Given the description of an element on the screen output the (x, y) to click on. 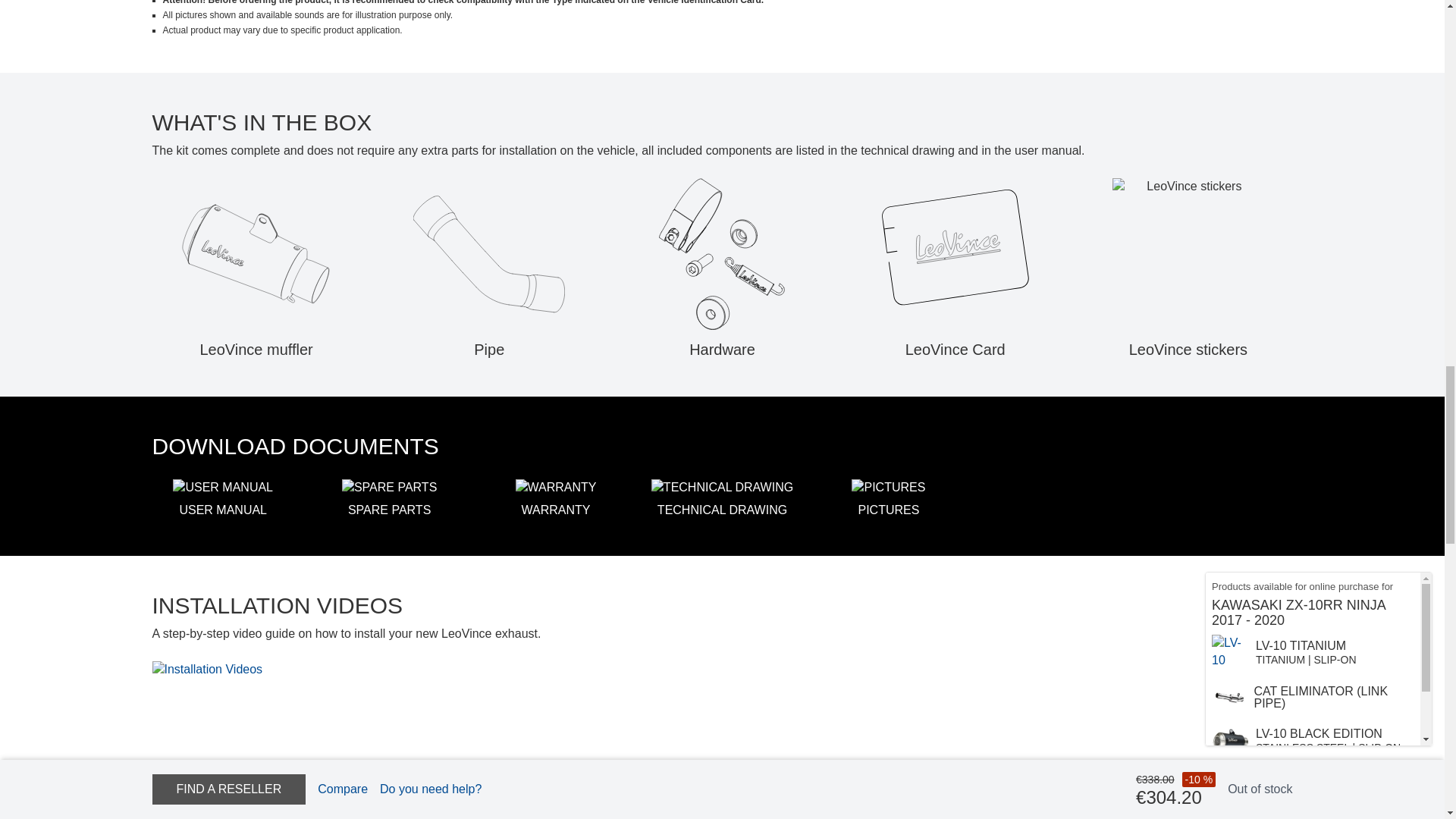
LeoVince Card (954, 254)
Hardware (721, 254)
Pipe (488, 254)
LeoVince muffler (255, 254)
